Given the description of an element on the screen output the (x, y) to click on. 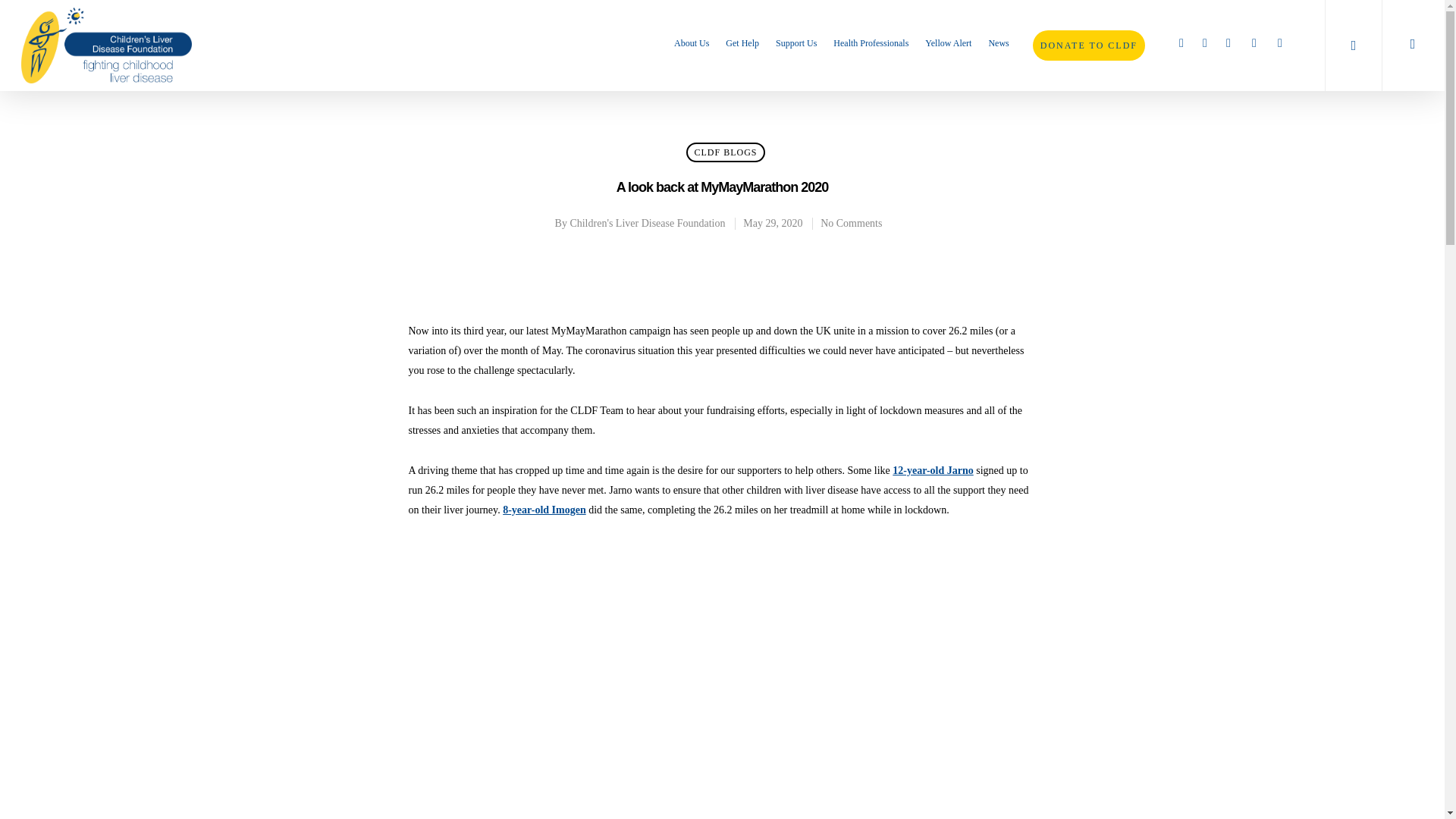
Health Professionals (870, 46)
Posts by Children's Liver Disease Foundation (647, 223)
